Given the description of an element on the screen output the (x, y) to click on. 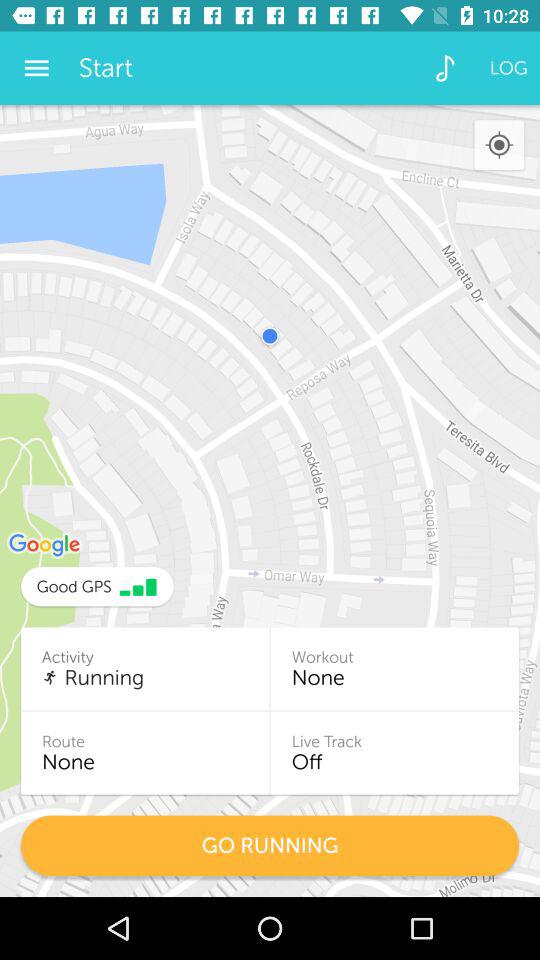
click the icon above the workout item (498, 145)
